Given the description of an element on the screen output the (x, y) to click on. 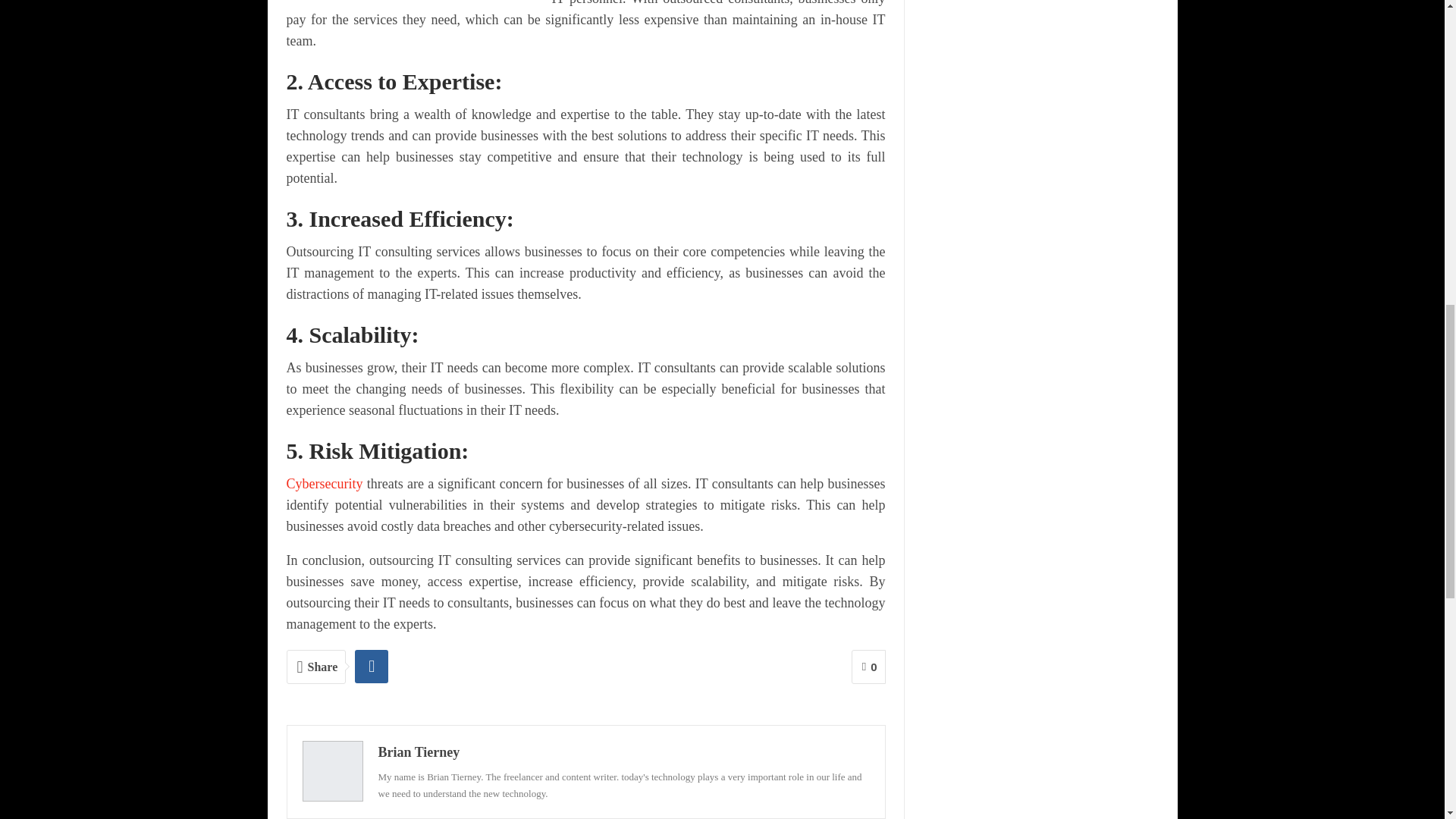
Cybersecurity (326, 483)
Brian Tierney (418, 752)
0 (868, 666)
